Given the description of an element on the screen output the (x, y) to click on. 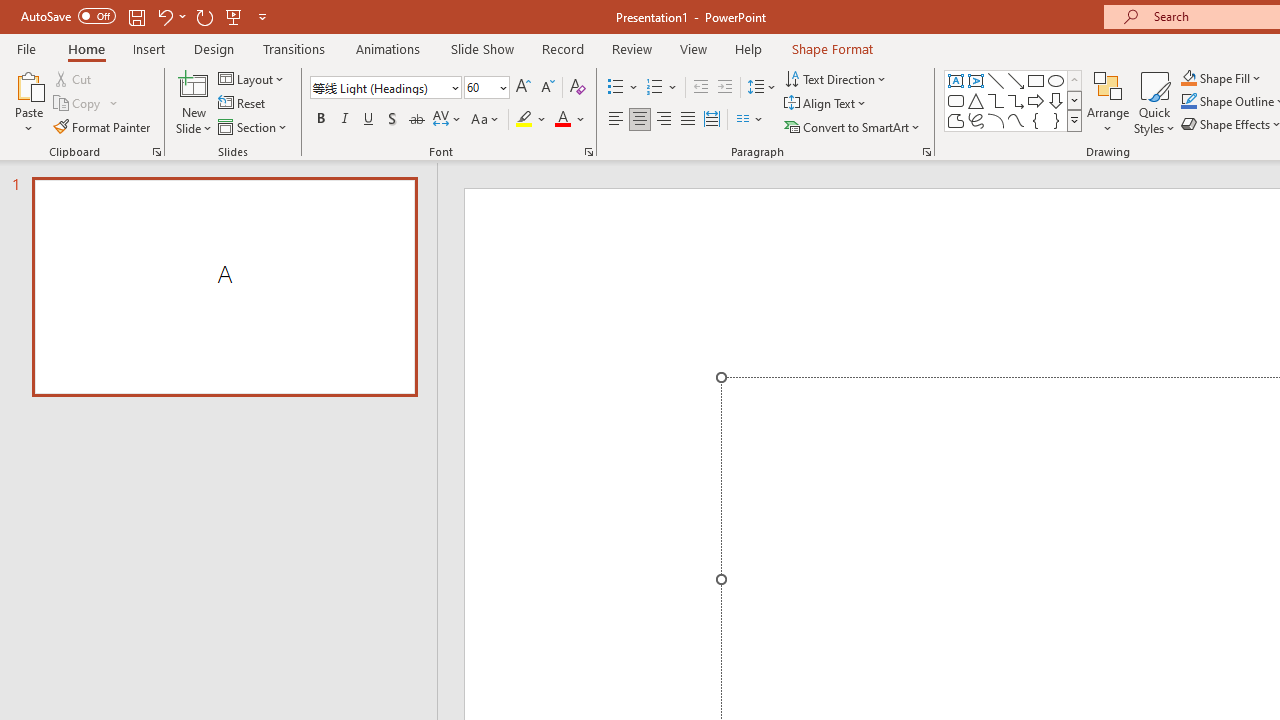
Shape Fill Orange, Accent 2 (1188, 78)
